Given the description of an element on the screen output the (x, y) to click on. 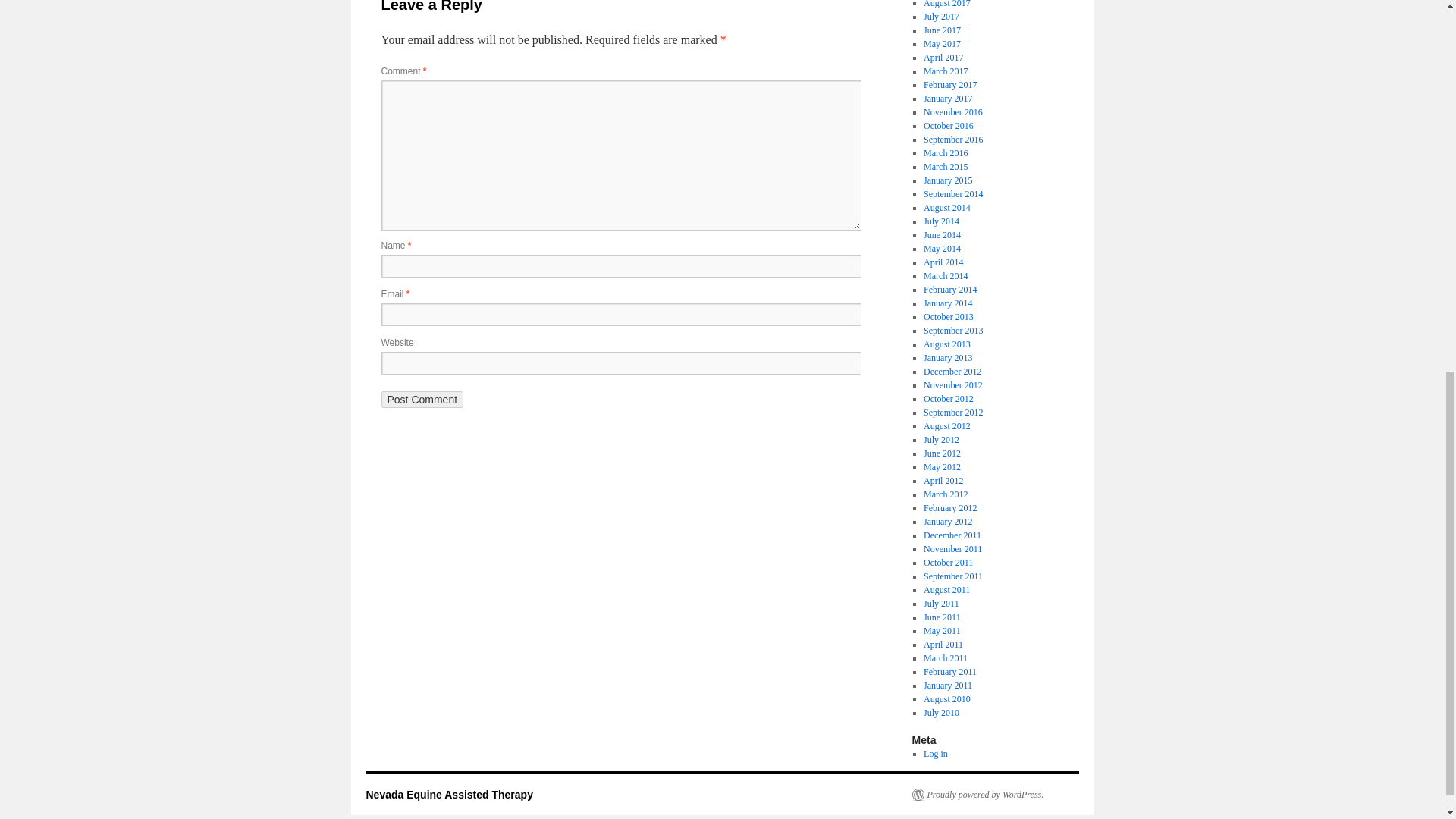
Semantic Personal Publishing Platform (977, 794)
Post Comment (421, 399)
Post Comment (421, 399)
Nevada Equine Assisted Therapy (448, 794)
